Given the description of an element on the screen output the (x, y) to click on. 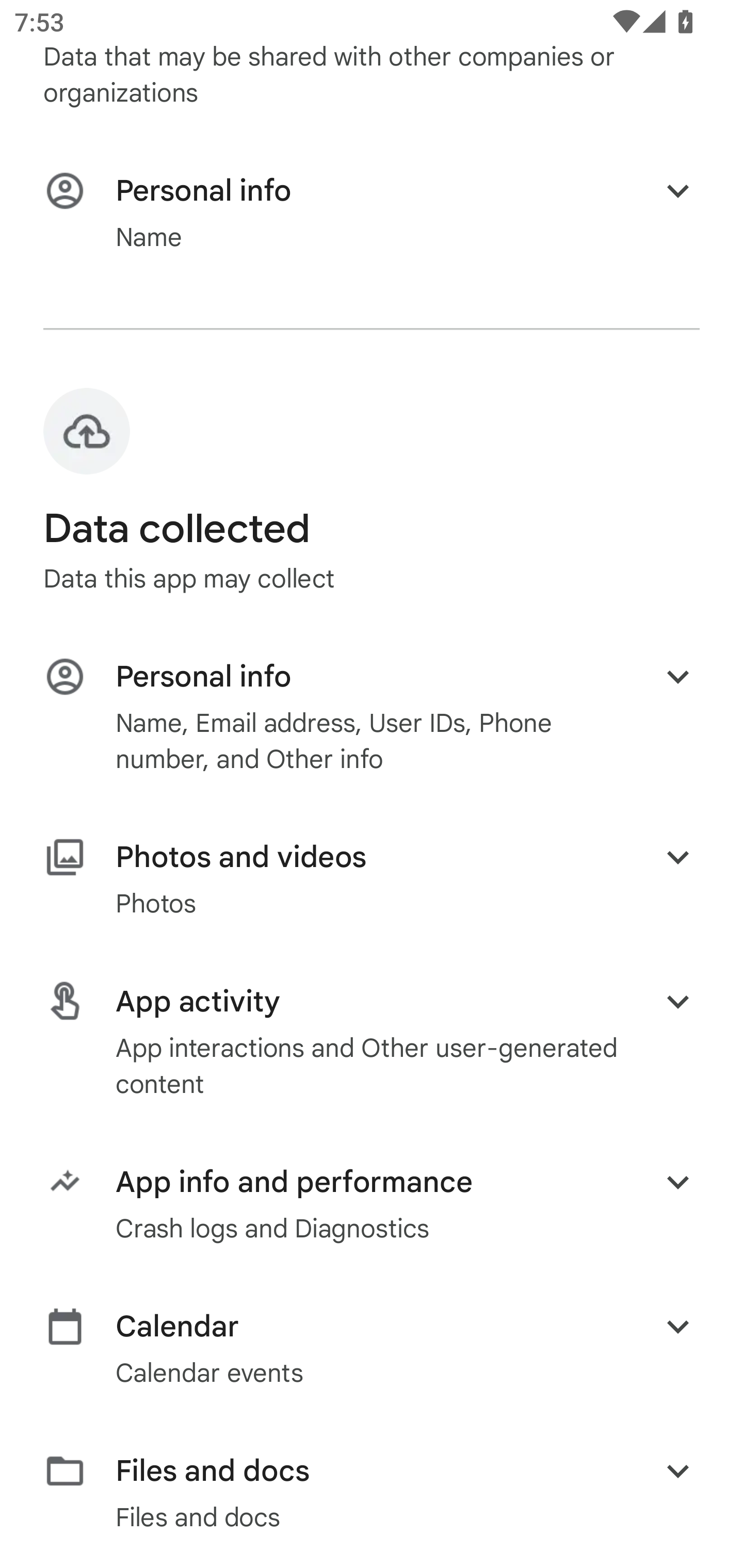
heading Personal info Name Expand button (371, 212)
heading Photos and videos Photos Expand button (371, 878)
heading Calendar Calendar events Expand button (371, 1348)
